Given the description of an element on the screen output the (x, y) to click on. 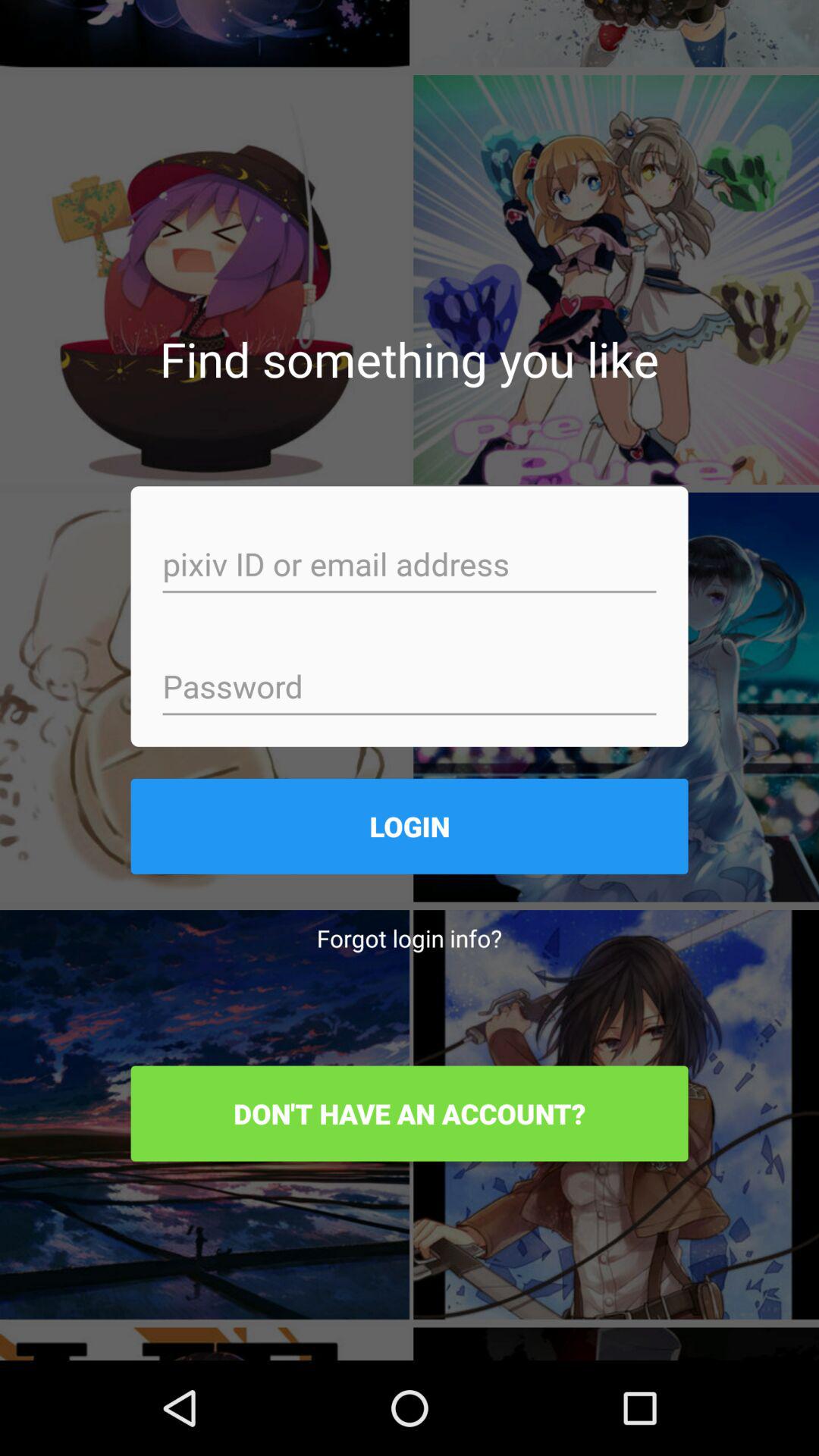
scroll until forgot login info? (409, 938)
